Given the description of an element on the screen output the (x, y) to click on. 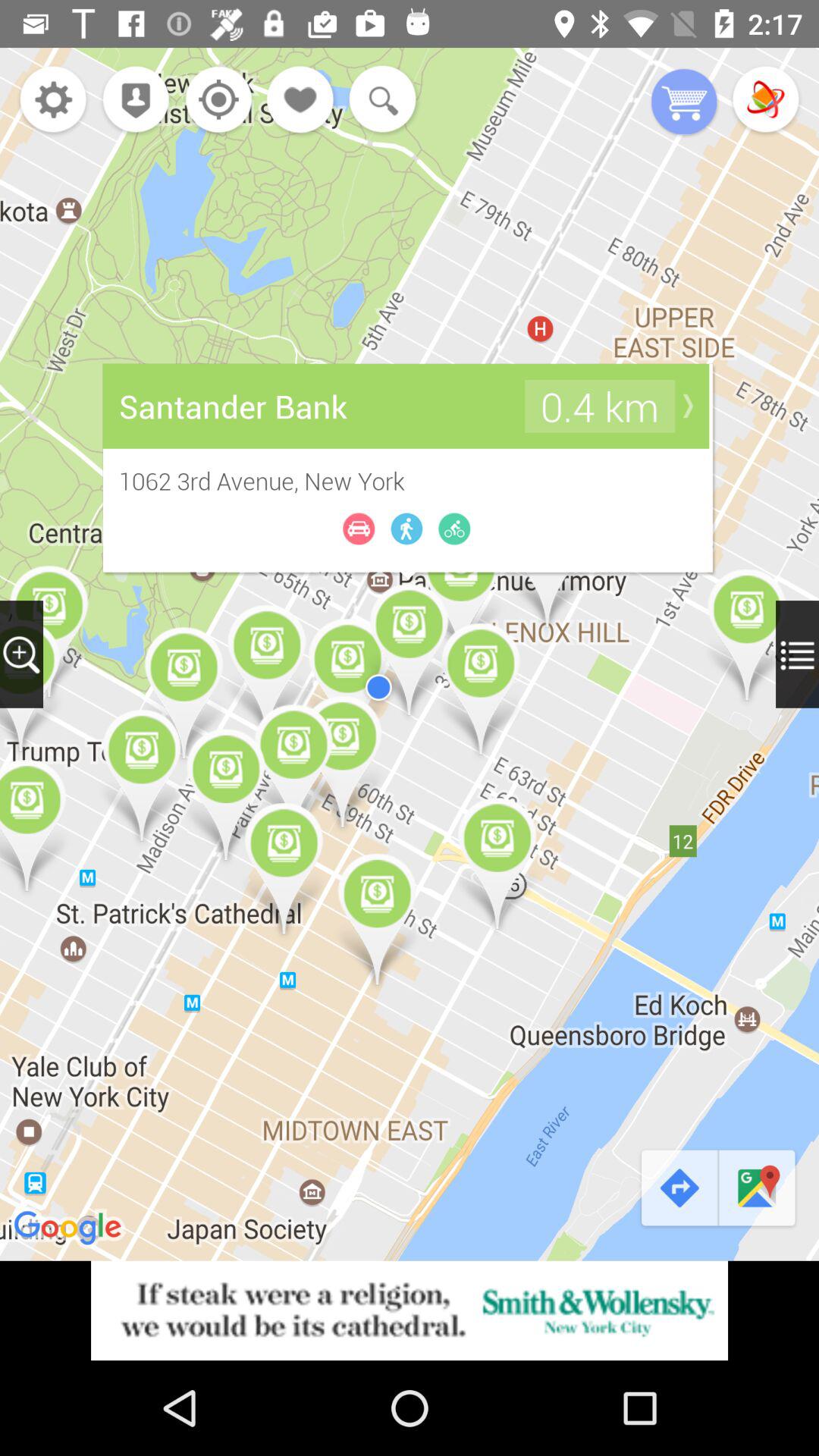
this button is used to select current location (214, 101)
